Given the description of an element on the screen output the (x, y) to click on. 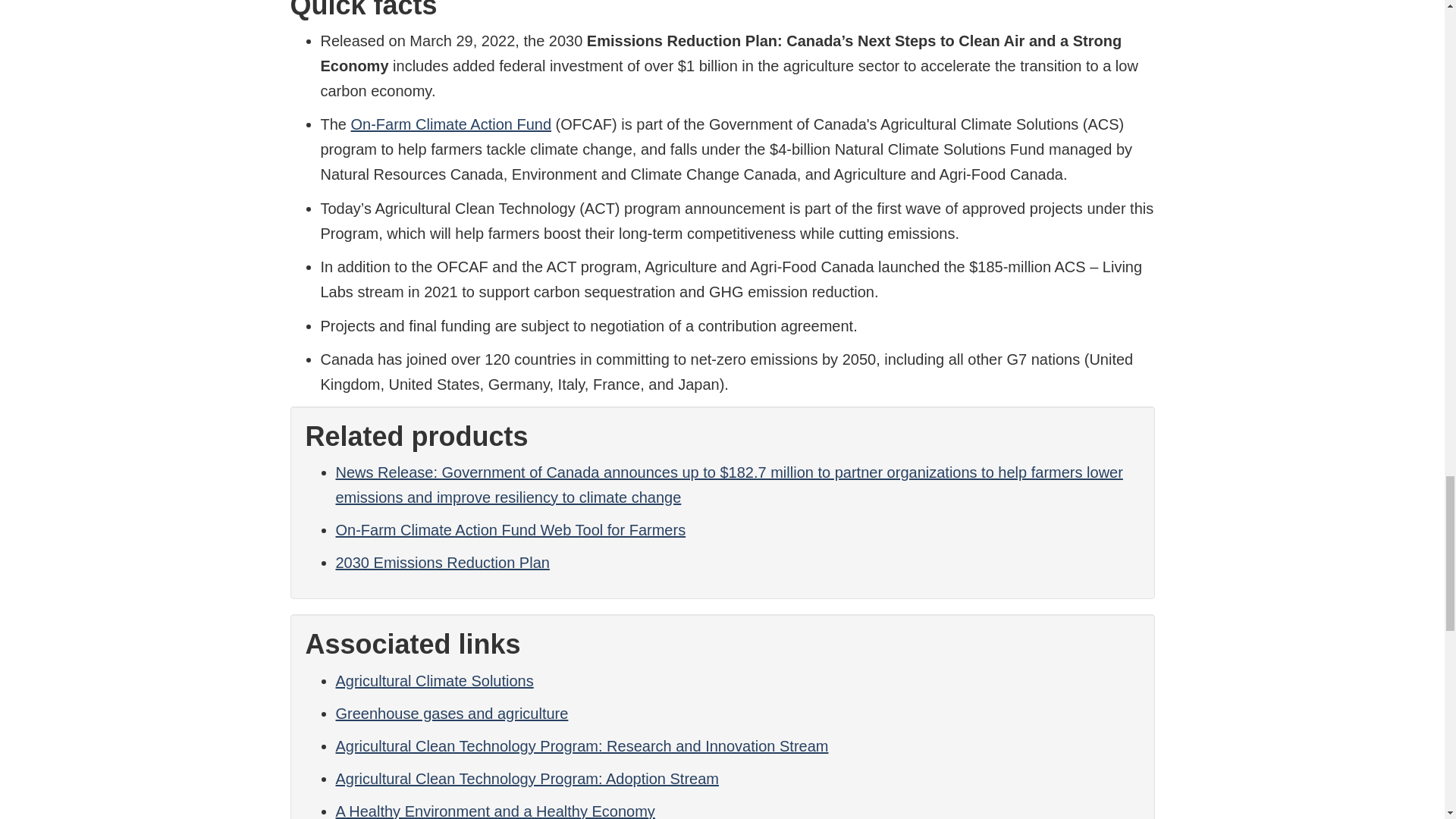
Agricultural Climate Solutions (433, 679)
On-Farm Climate Action Fund (450, 124)
2030 Emissions Reduction Plan (441, 562)
A Healthy Environment and a Healthy Economy (493, 810)
On-Farm Climate Action Fund Web Tool for Farmers (509, 529)
On-Farm Climate Action Fund Web Tool for Farmers (509, 529)
2030 Emissions Reduction Plan (441, 562)
Greenhouse gases and agriculture (450, 713)
Agricultural Clean Technology Program: Adoption Stream (525, 778)
Greenhouse gases and agriculture (450, 713)
